Given the description of an element on the screen output the (x, y) to click on. 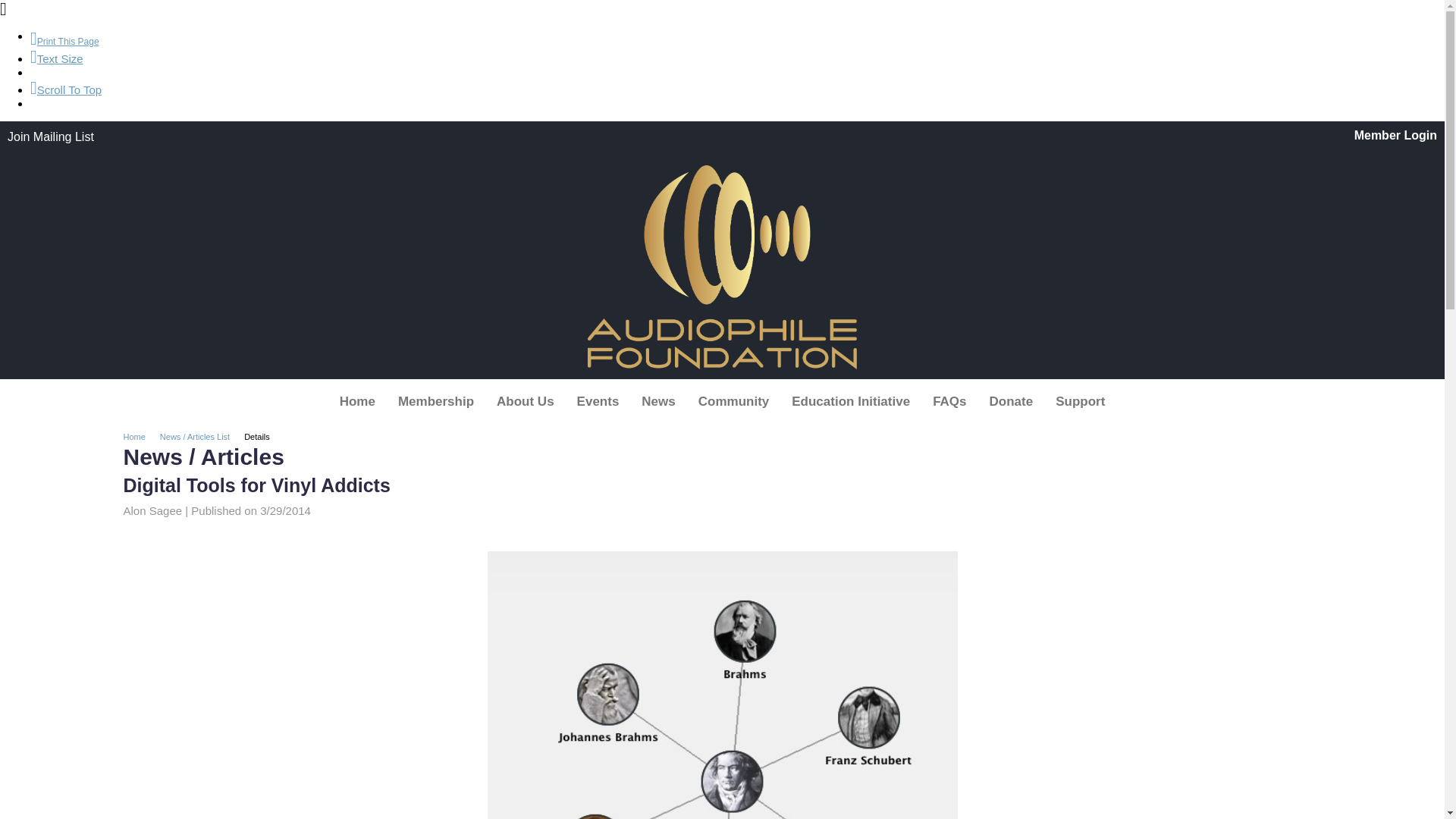
Go To Top (65, 89)
Support (1080, 401)
Join Mailing List (50, 137)
FAQs (949, 401)
Menu (722, 401)
Print (64, 41)
Home (356, 401)
Home (138, 436)
Text Size (56, 58)
Member Login (1395, 134)
